Given the description of an element on the screen output the (x, y) to click on. 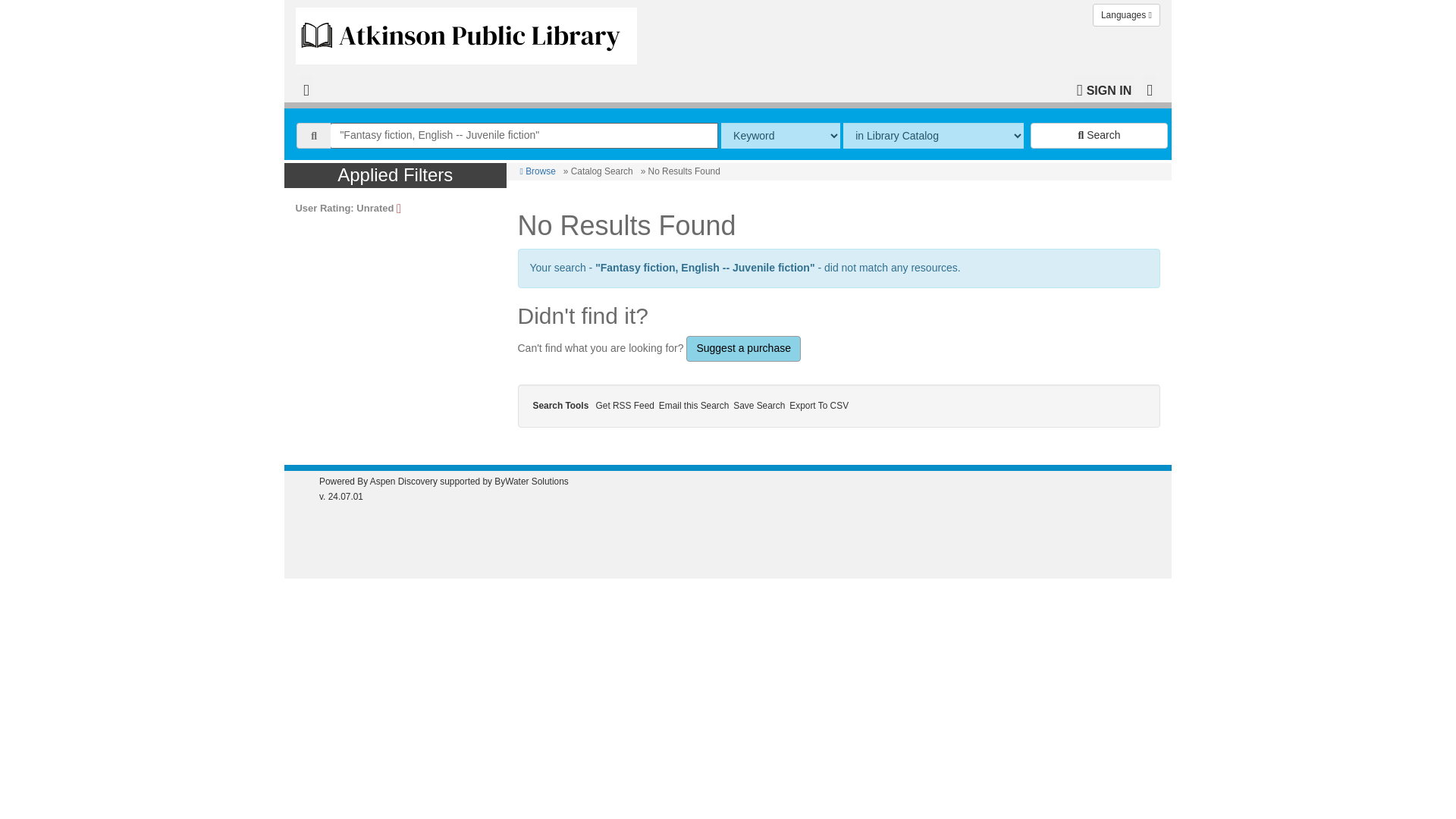
Suggest a purchase (742, 348)
Browse the catalog (537, 171)
 Search (1098, 135)
Save Search (761, 405)
Browse (537, 171)
The method of searching. (780, 135)
Get RSS Feed (627, 405)
Login (1104, 88)
Return to Catalog Home (470, 32)
SIGN IN (1104, 88)
